Given the description of an element on the screen output the (x, y) to click on. 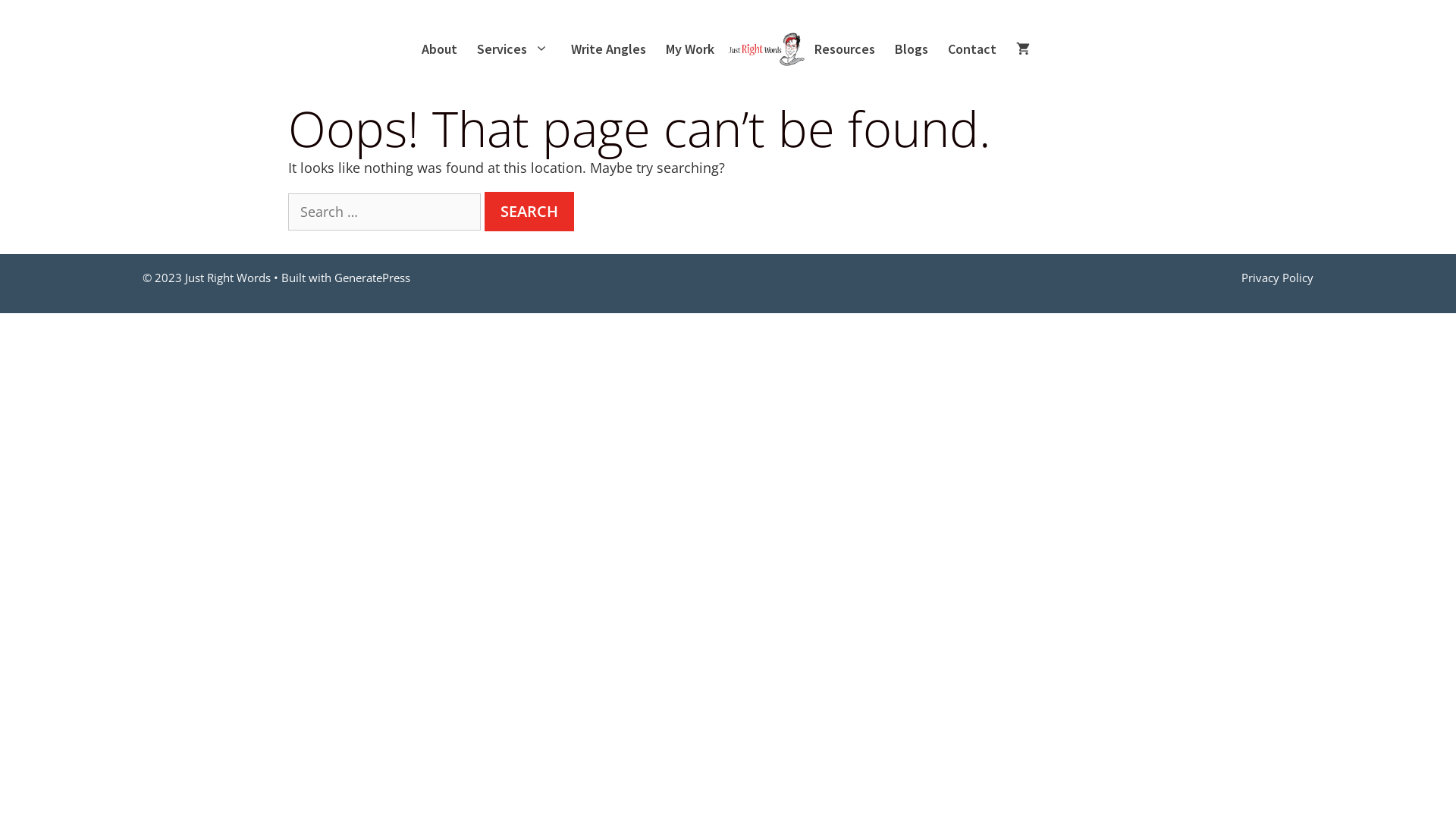
Write Angles Element type: text (610, 49)
About Element type: text (441, 49)
GeneratePress Element type: text (372, 277)
Blogs Element type: text (913, 49)
Privacy Policy Element type: text (1277, 277)
Services Element type: text (516, 49)
My Work Element type: text (692, 49)
View your shopping cart Element type: hover (1024, 49)
Home Page Element type: text (766, 49)
Contact Element type: text (974, 49)
Resources Element type: text (846, 49)
Search Element type: text (529, 211)
Search for: Element type: hover (384, 211)
